Given the description of an element on the screen output the (x, y) to click on. 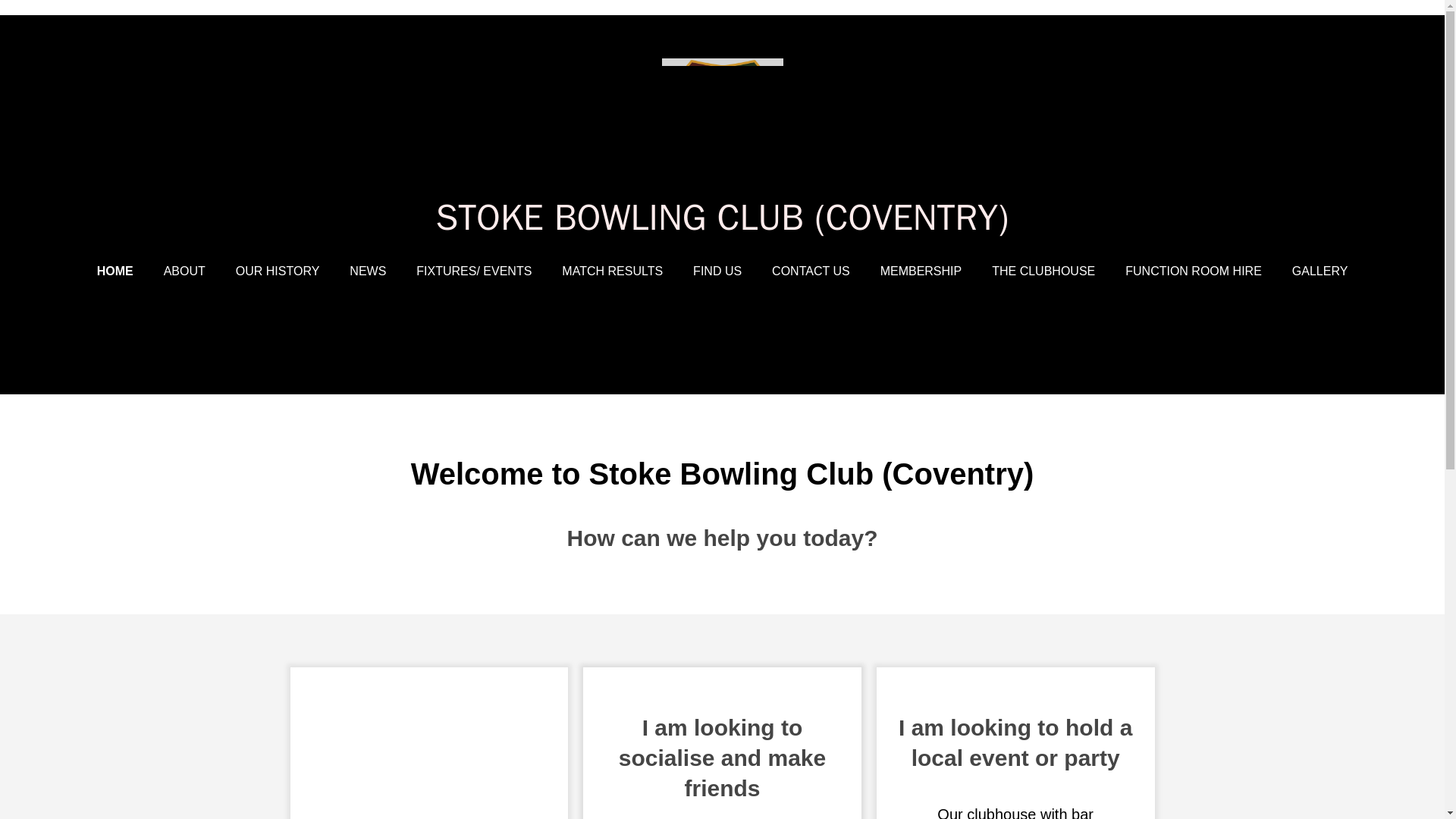
MATCH RESULTS (611, 271)
ABOUT (183, 271)
GALLERY (1319, 271)
HOME (114, 271)
THE CLUBHOUSE (1043, 271)
CONTACT US (810, 271)
FUNCTION ROOM HIRE (1193, 271)
NEWS (367, 271)
MEMBERSHIP (920, 271)
OUR HISTORY (277, 271)
FIND US (717, 271)
